Given the description of an element on the screen output the (x, y) to click on. 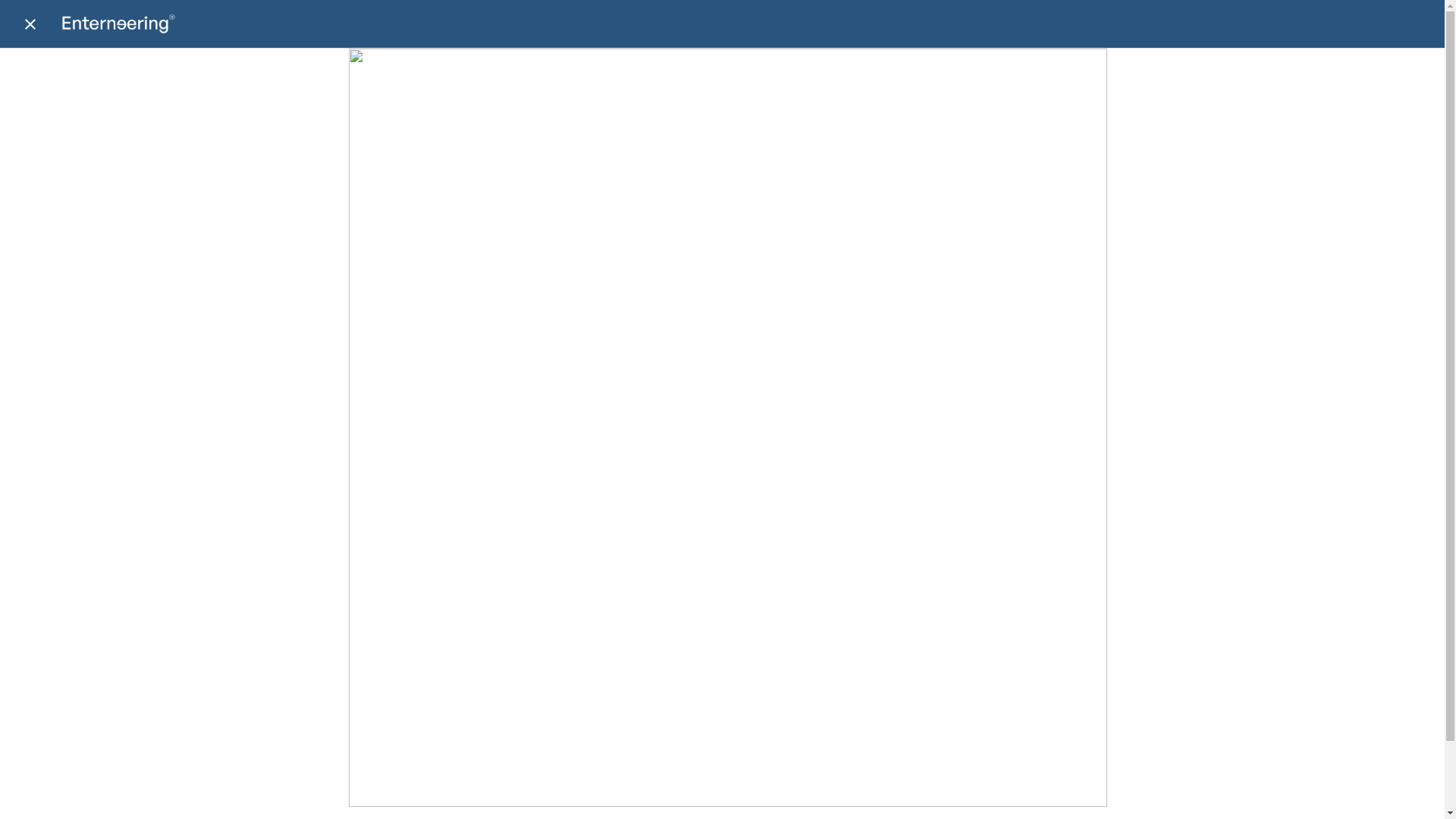
materialicons-outlined-1386 (30, 24)
materialicons-outlined-1386 (30, 24)
